Given the description of an element on the screen output the (x, y) to click on. 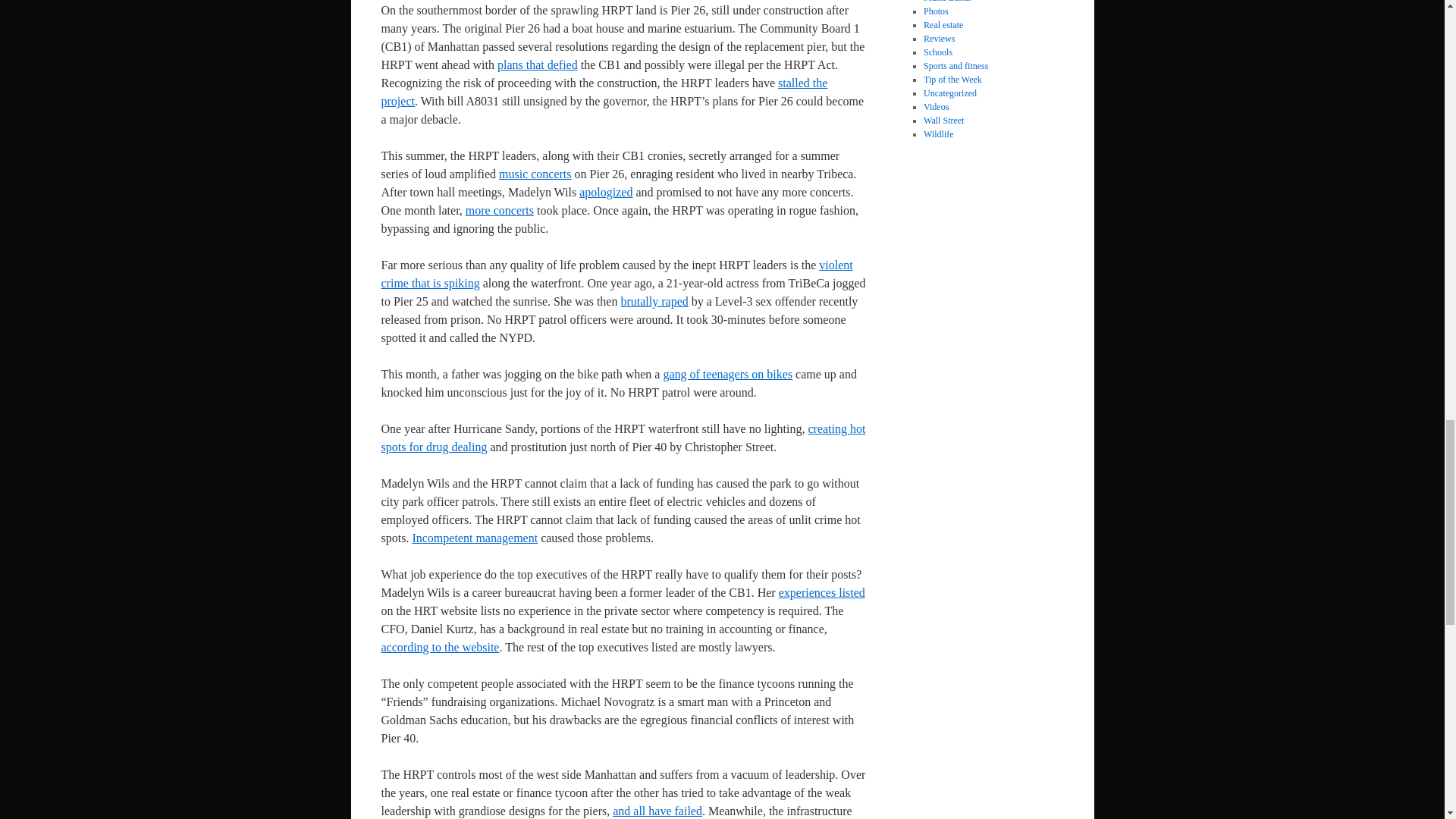
apologized (605, 192)
plans that defied (537, 64)
creating hot spots for drug dealing (622, 437)
according to the website (439, 646)
experiences listed (821, 592)
brutally raped (653, 300)
gang of teenagers on bikes (727, 373)
and all have failed (656, 810)
music concerts (535, 173)
violent crime that is spiking (615, 273)
more concerts (499, 210)
stalled the project (603, 91)
Incompetent management (474, 537)
